Given the description of an element on the screen output the (x, y) to click on. 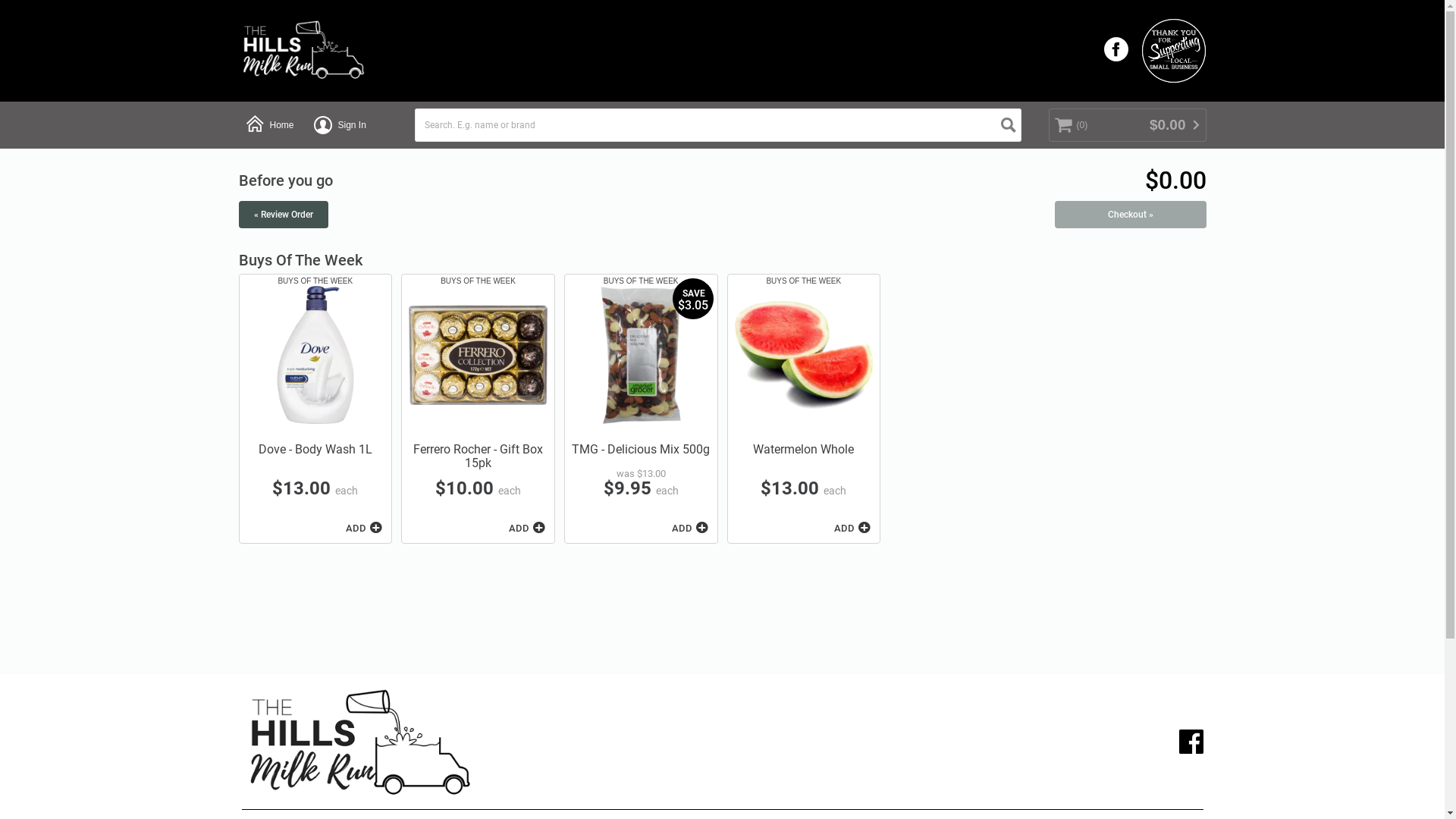
ADD+ Element type: text (688, 527)
ADD+ Element type: text (362, 527)
Search Element type: hover (1008, 125)
(0)
$0.00 Element type: text (1126, 124)
Home Element type: text (269, 124)
ADD+ Element type: text (851, 527)
ADD+ Element type: text (525, 527)
Sign In Element type: text (340, 124)
Facebook Element type: hover (1190, 741)
